Given the description of an element on the screen output the (x, y) to click on. 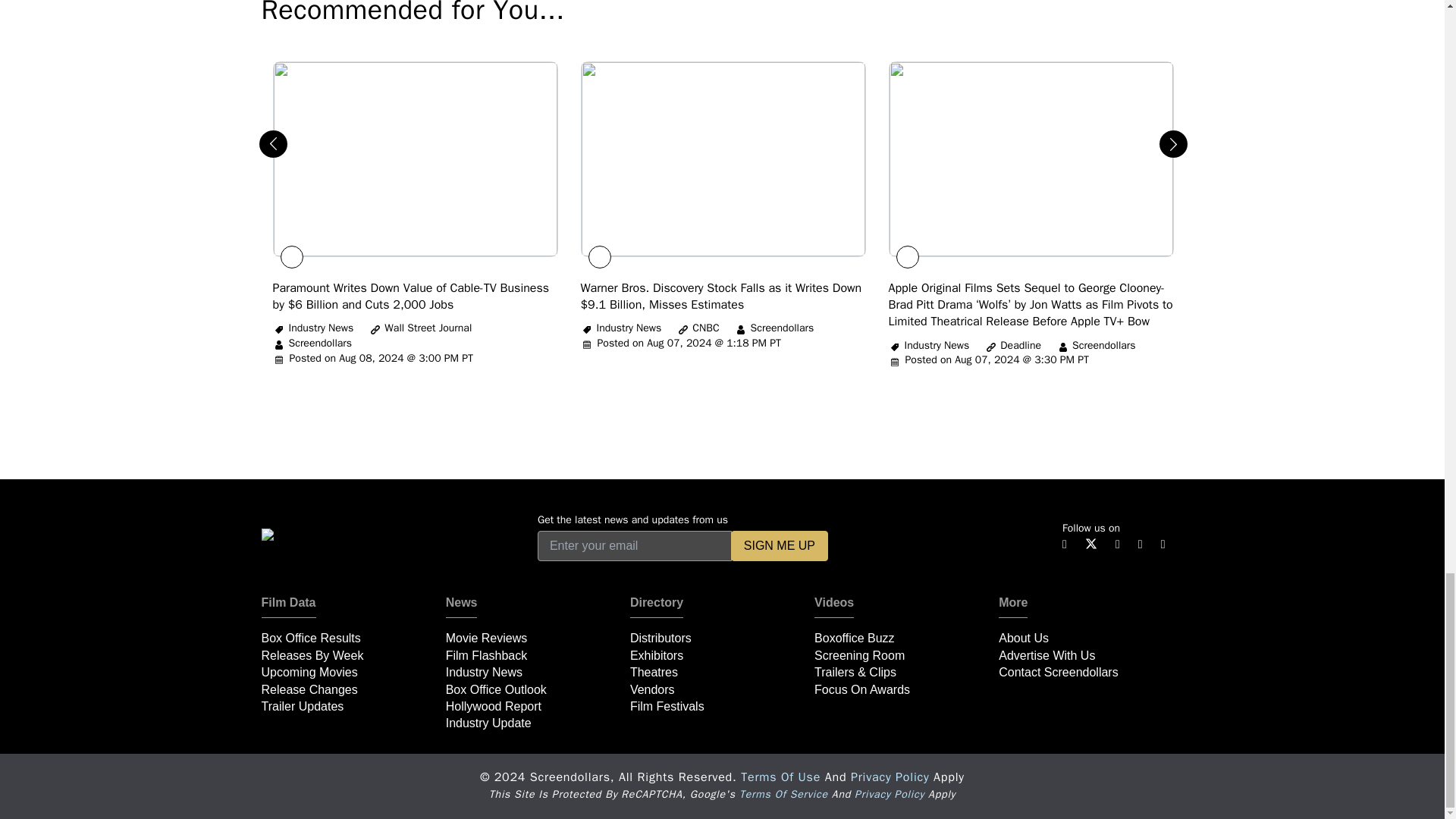
Steven Spielberg Gets Personal (720, 296)
Steven Spielberg Gets Personal (1030, 305)
Previous (267, 137)
Steven Spielberg Gets Personal (411, 296)
